Given the description of an element on the screen output the (x, y) to click on. 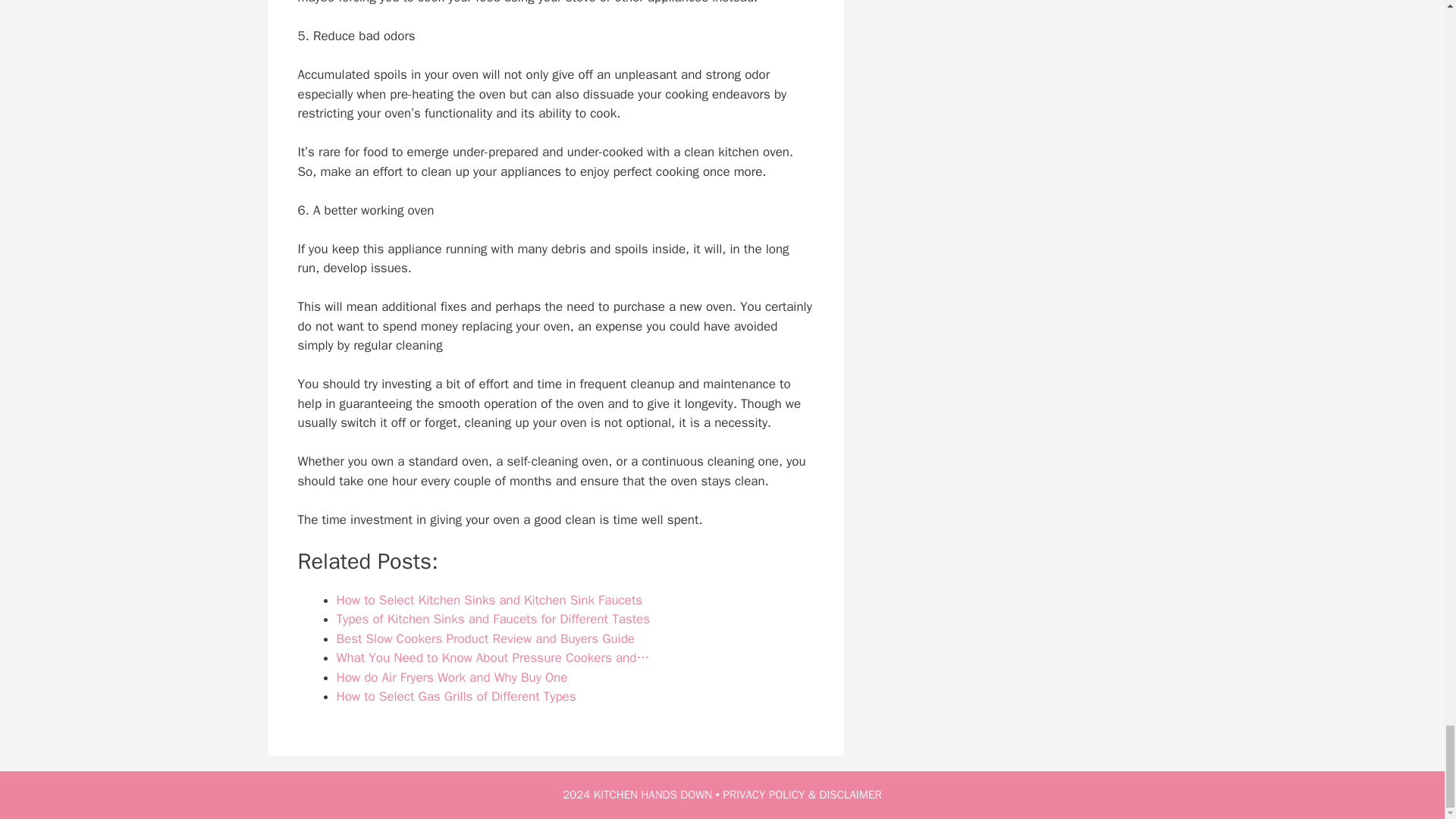
How to Select Gas Grills of Different Types (456, 696)
How to Select Kitchen Sinks and Kitchen Sink Faucets (489, 600)
Types of Kitchen Sinks and Faucets for Different Tastes (493, 618)
How do Air Fryers Work and Why Buy One (451, 677)
Best Slow Cookers Product Review and Buyers Guide (485, 638)
